Given the description of an element on the screen output the (x, y) to click on. 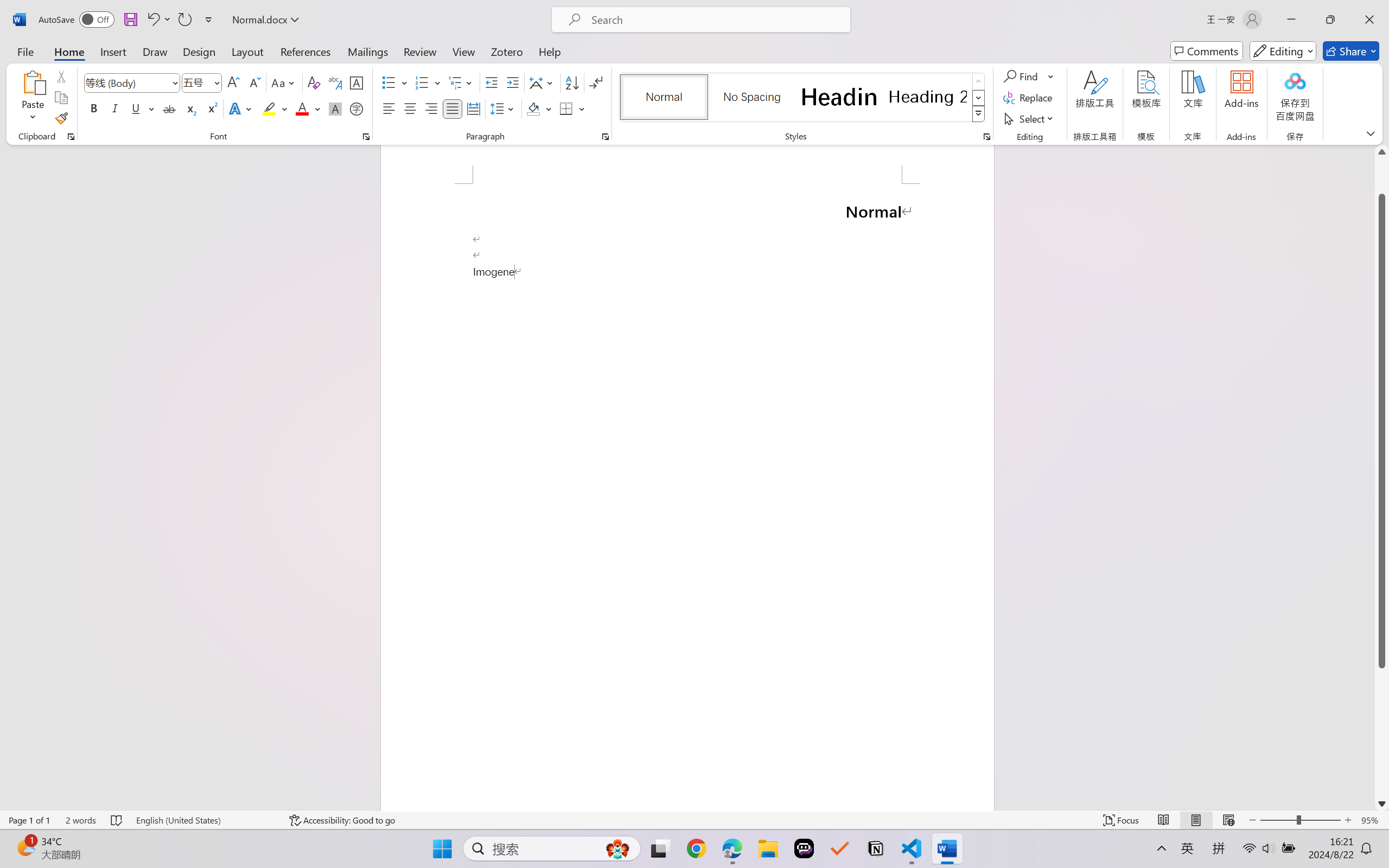
Heading 2 (927, 96)
Asian Layout (542, 82)
Office Clipboard... (70, 136)
Text Highlight Color Yellow (269, 108)
Superscript (210, 108)
Increase Indent (512, 82)
Center (409, 108)
